Given the description of an element on the screen output the (x, y) to click on. 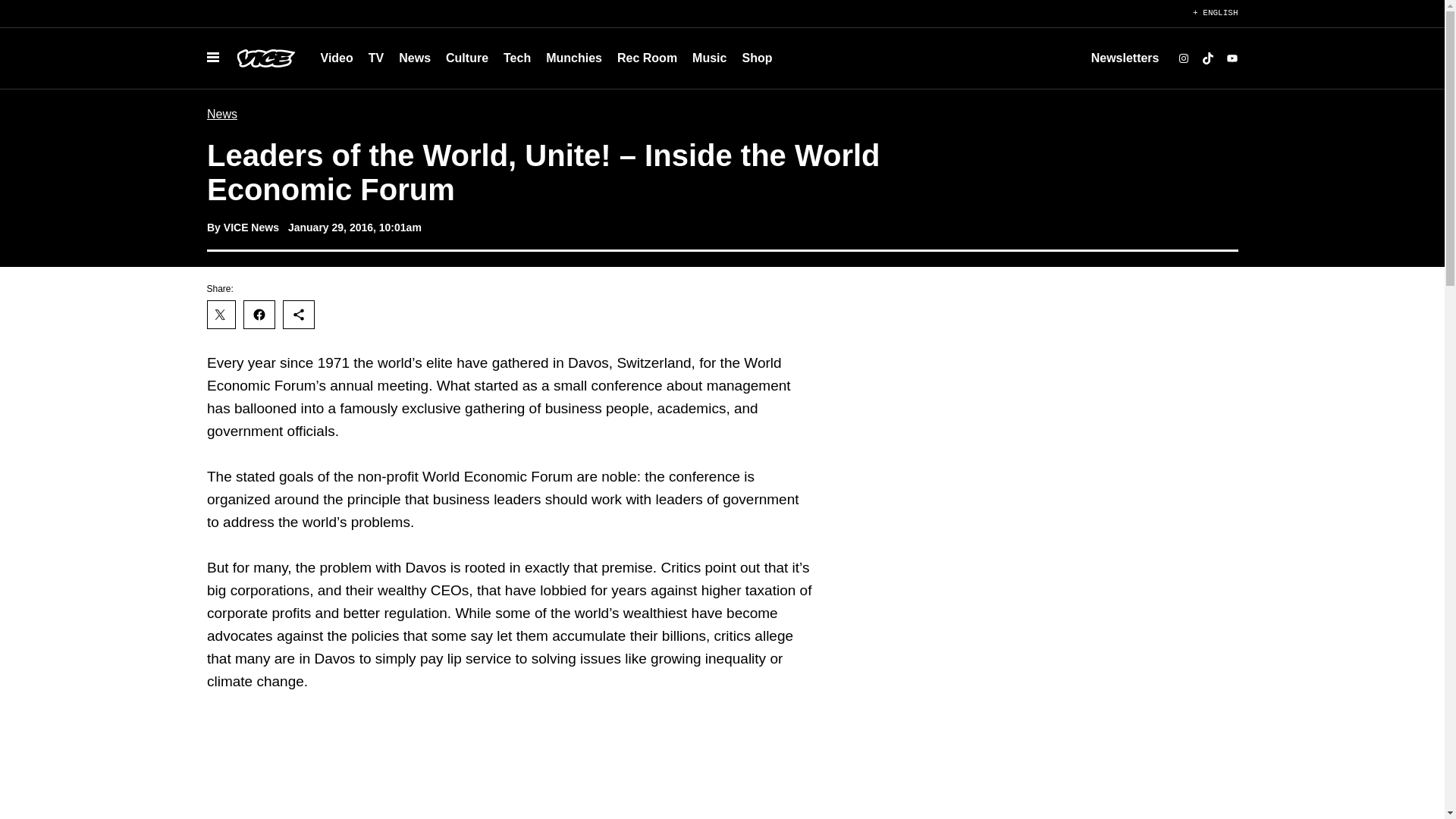
Tech (517, 58)
TV (376, 58)
Newsletters (1124, 57)
Instagram (1182, 58)
Posts by VICE News (250, 227)
Rec Room (647, 58)
News (414, 58)
TikTok (1206, 58)
Open Menu (211, 58)
Video (336, 58)
